Given the description of an element on the screen output the (x, y) to click on. 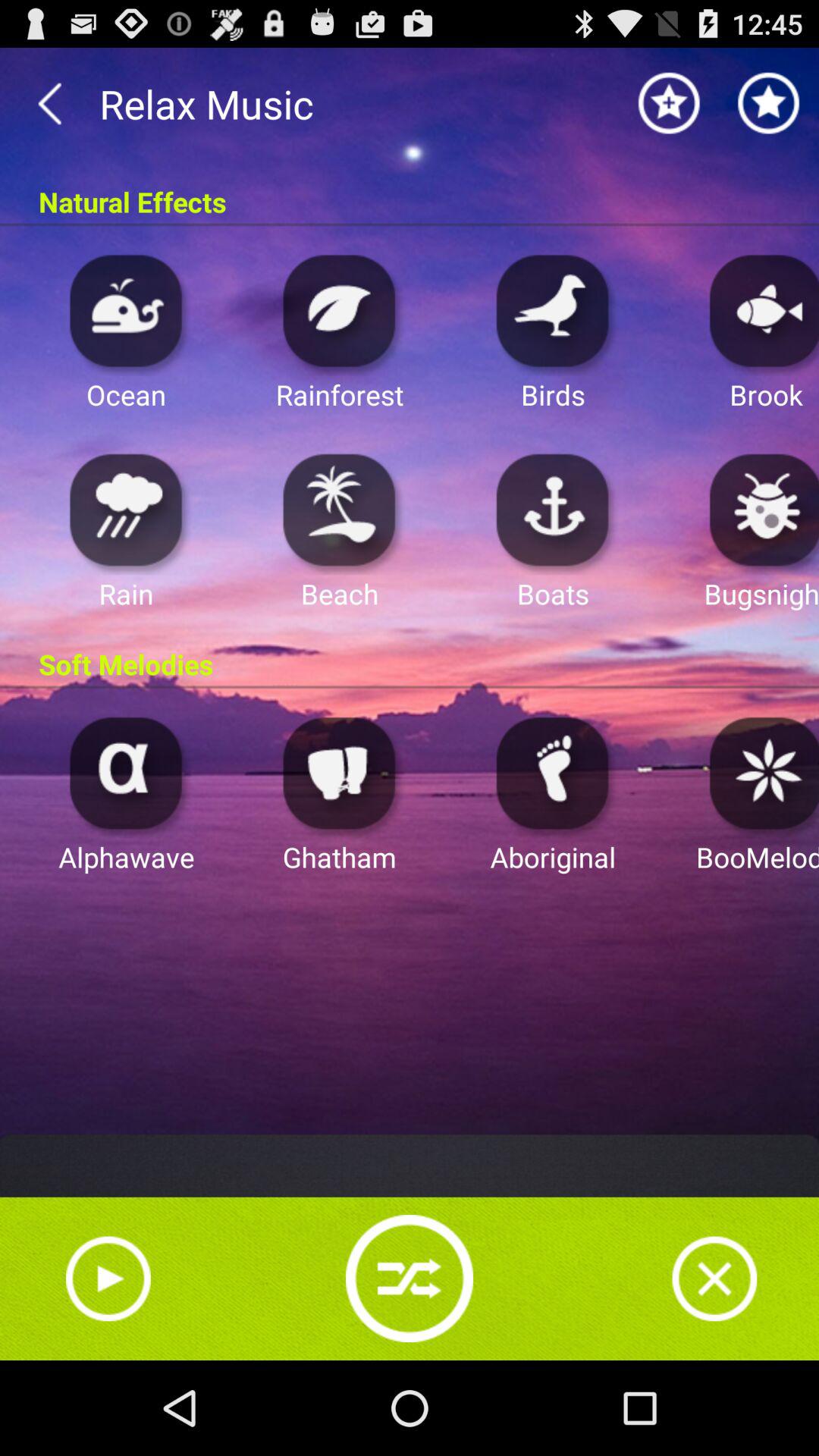
bugsnight button (759, 509)
